Given the description of an element on the screen output the (x, y) to click on. 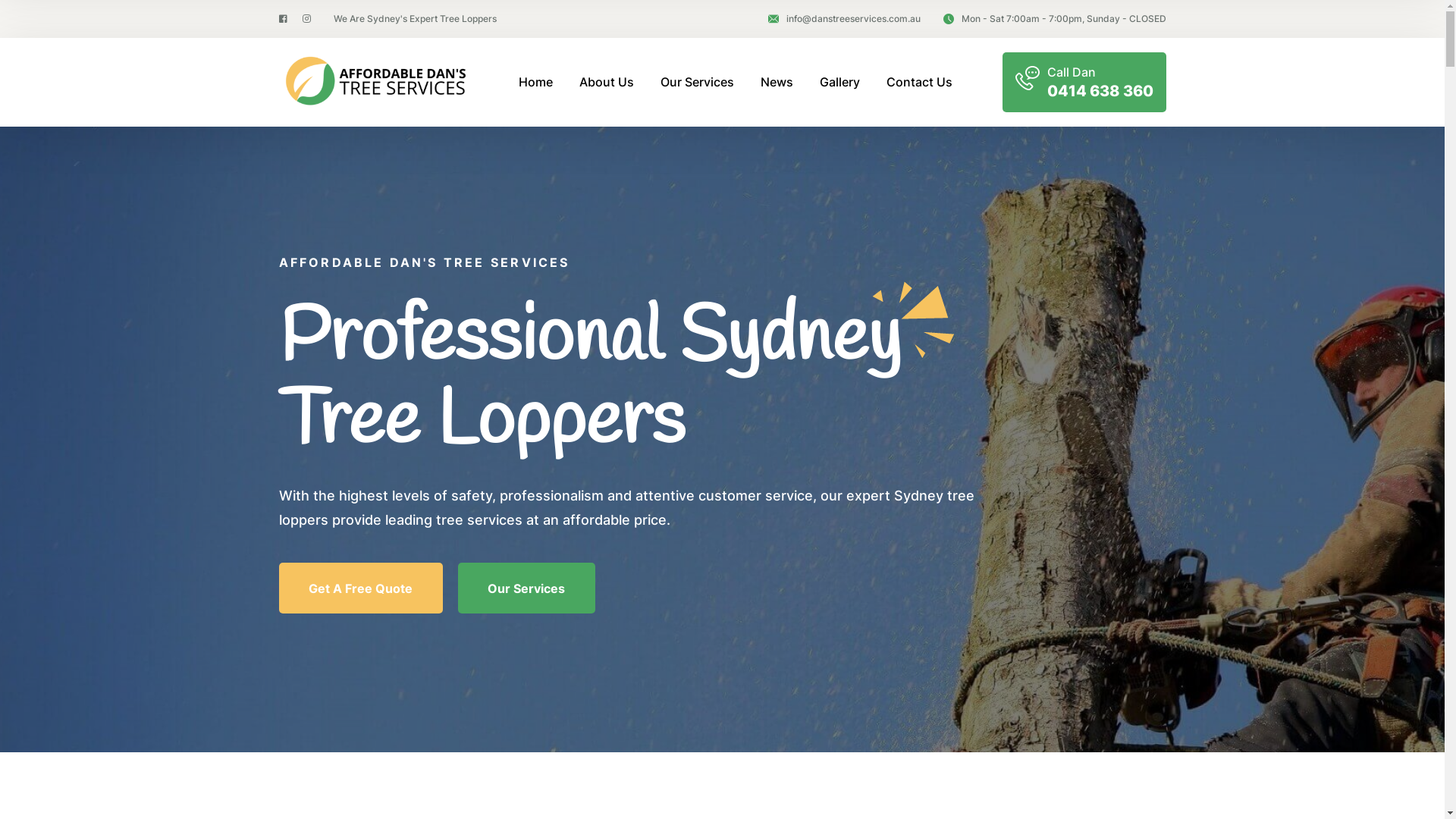
Home Element type: text (535, 81)
Gallery Element type: text (839, 81)
Call Dan
0414 638 360 Element type: text (1084, 81)
News Element type: text (775, 81)
Our Services Element type: text (696, 81)
Contact Us Element type: text (918, 81)
About Us Element type: text (606, 81)
Get A Free Quote Element type: text (360, 587)
Our Services Element type: text (526, 587)
